Given the description of an element on the screen output the (x, y) to click on. 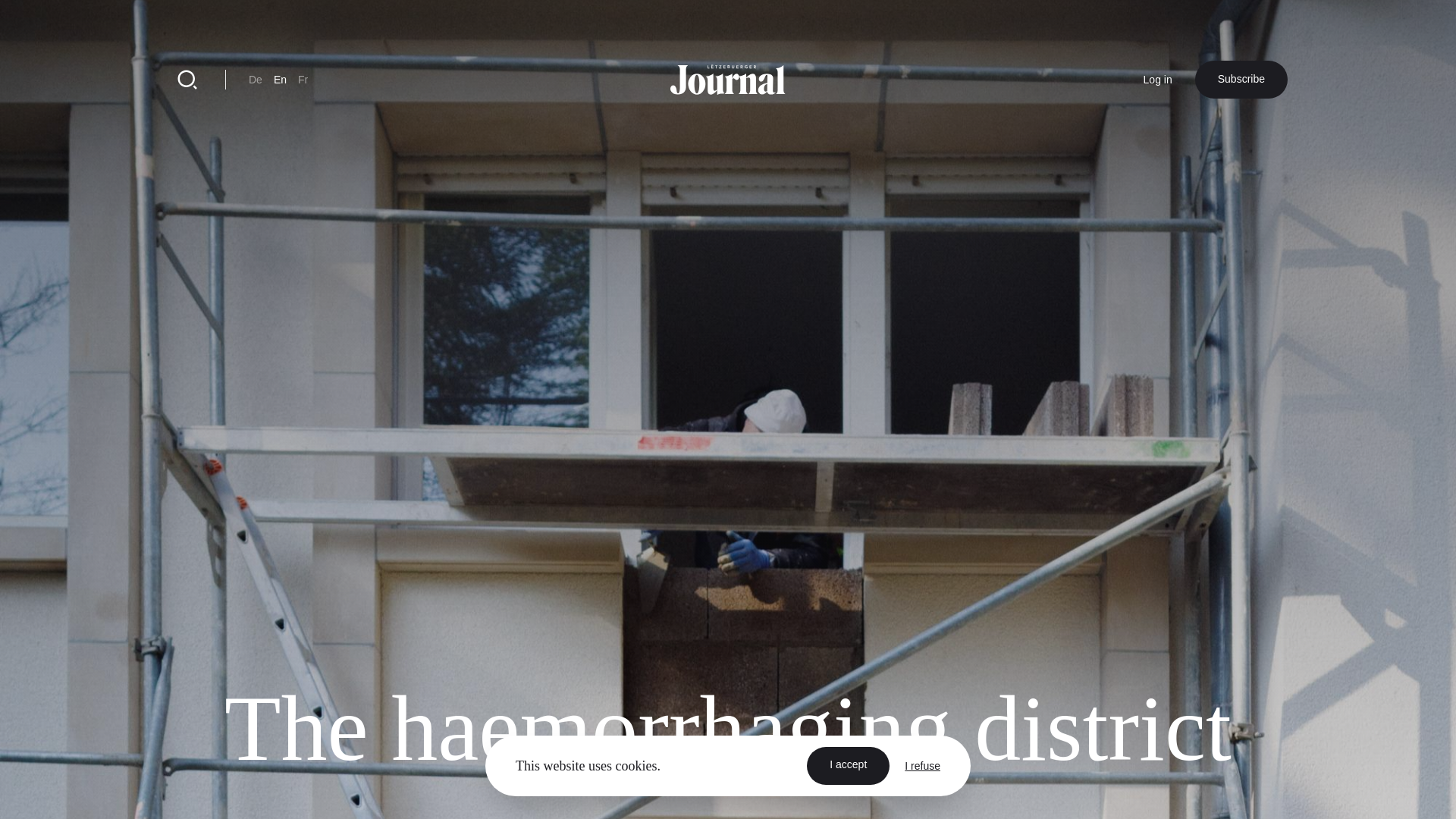
Subscribe (1241, 79)
De (255, 79)
En (279, 79)
Log in (1157, 79)
